Given the description of an element on the screen output the (x, y) to click on. 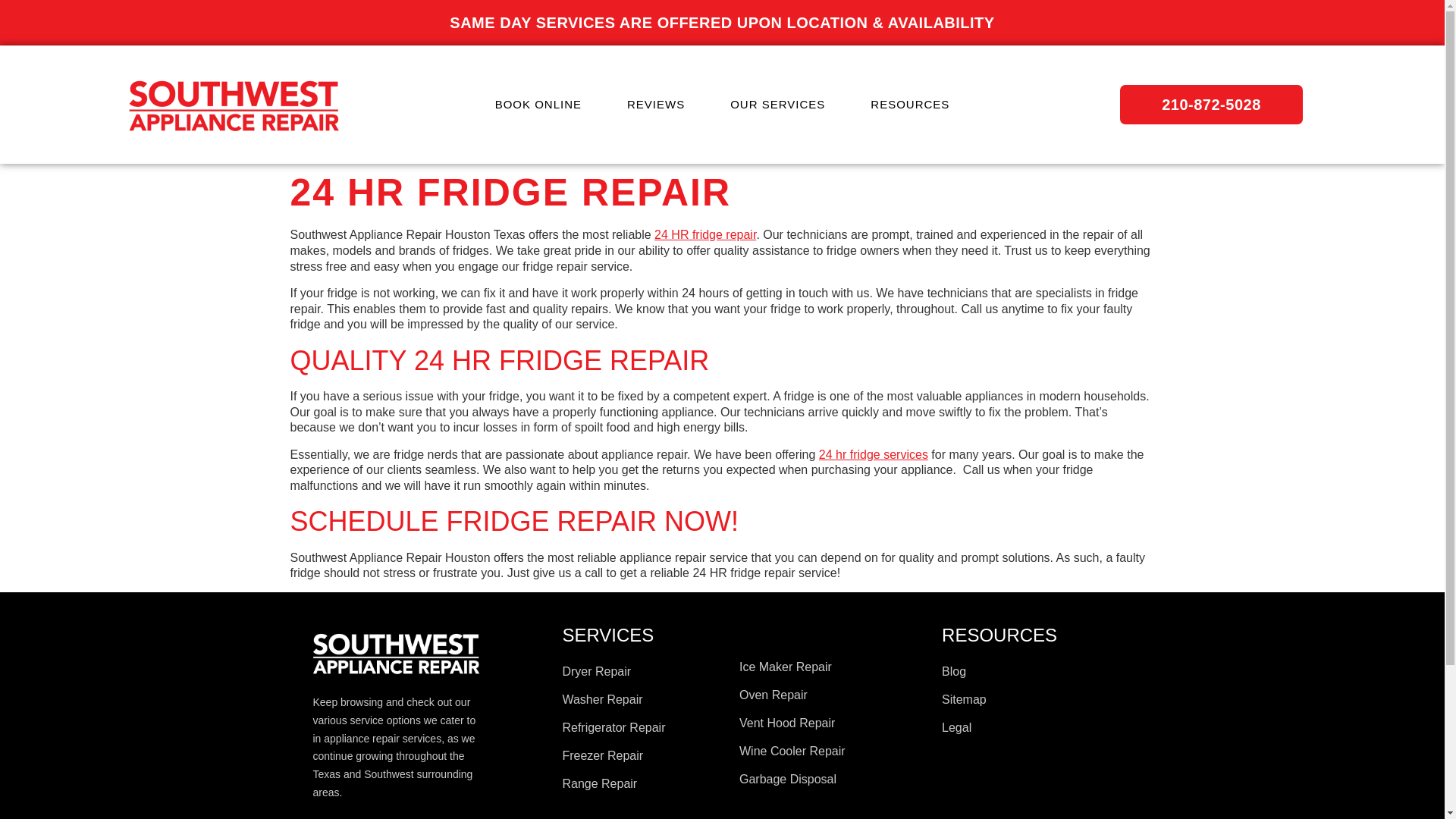
24 hr fridge services (873, 454)
RESOURCES (909, 104)
Ice Maker Repair (832, 667)
Wine Cooler Repair (832, 751)
REVIEWS (655, 104)
Washer Repair (642, 699)
Range Repair (642, 784)
210-872-5028 (1211, 104)
BOOK ONLINE (537, 104)
Freezer Repair (642, 755)
